Given the description of an element on the screen output the (x, y) to click on. 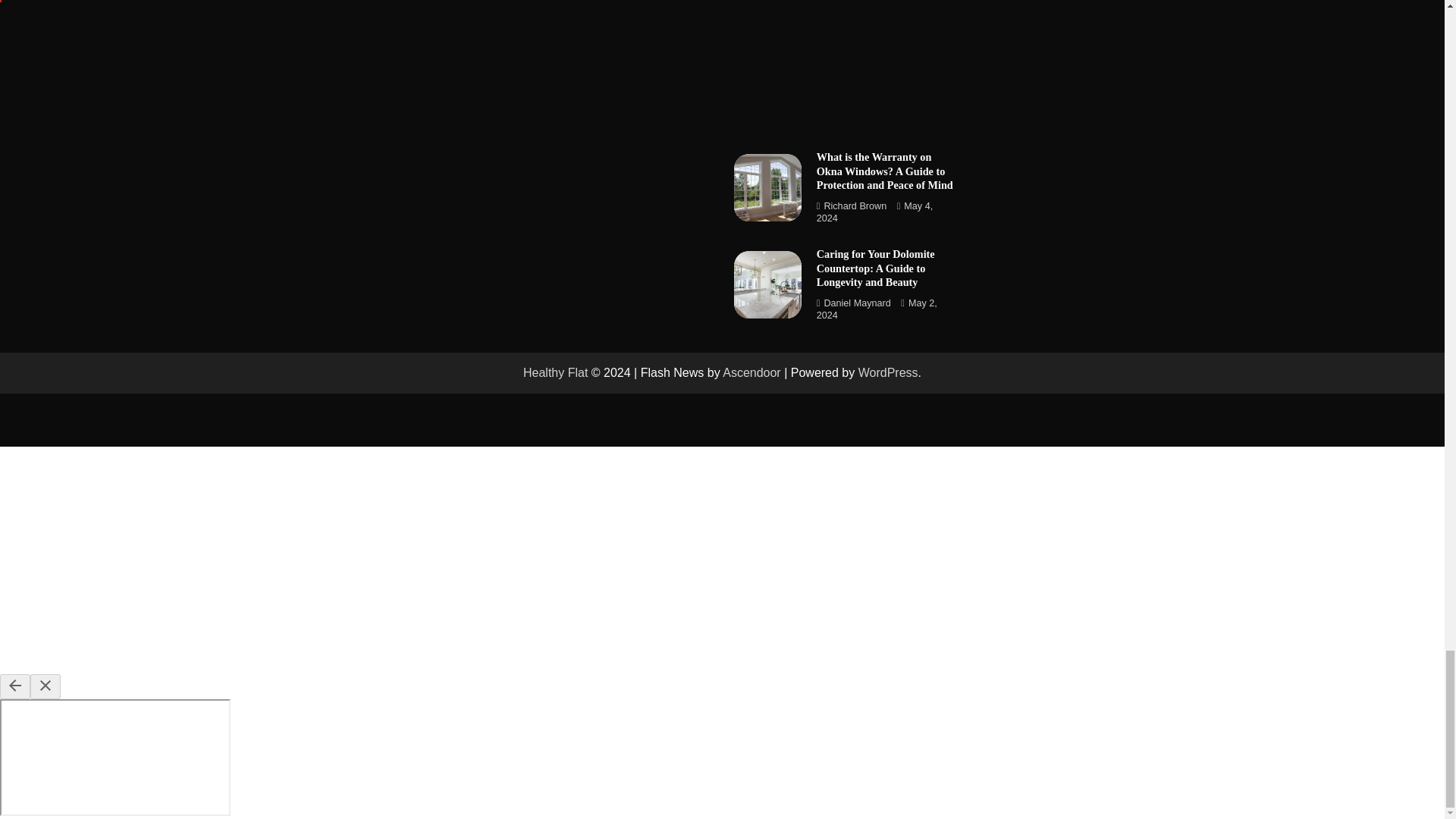
Advertisement (846, 63)
